Given the description of an element on the screen output the (x, y) to click on. 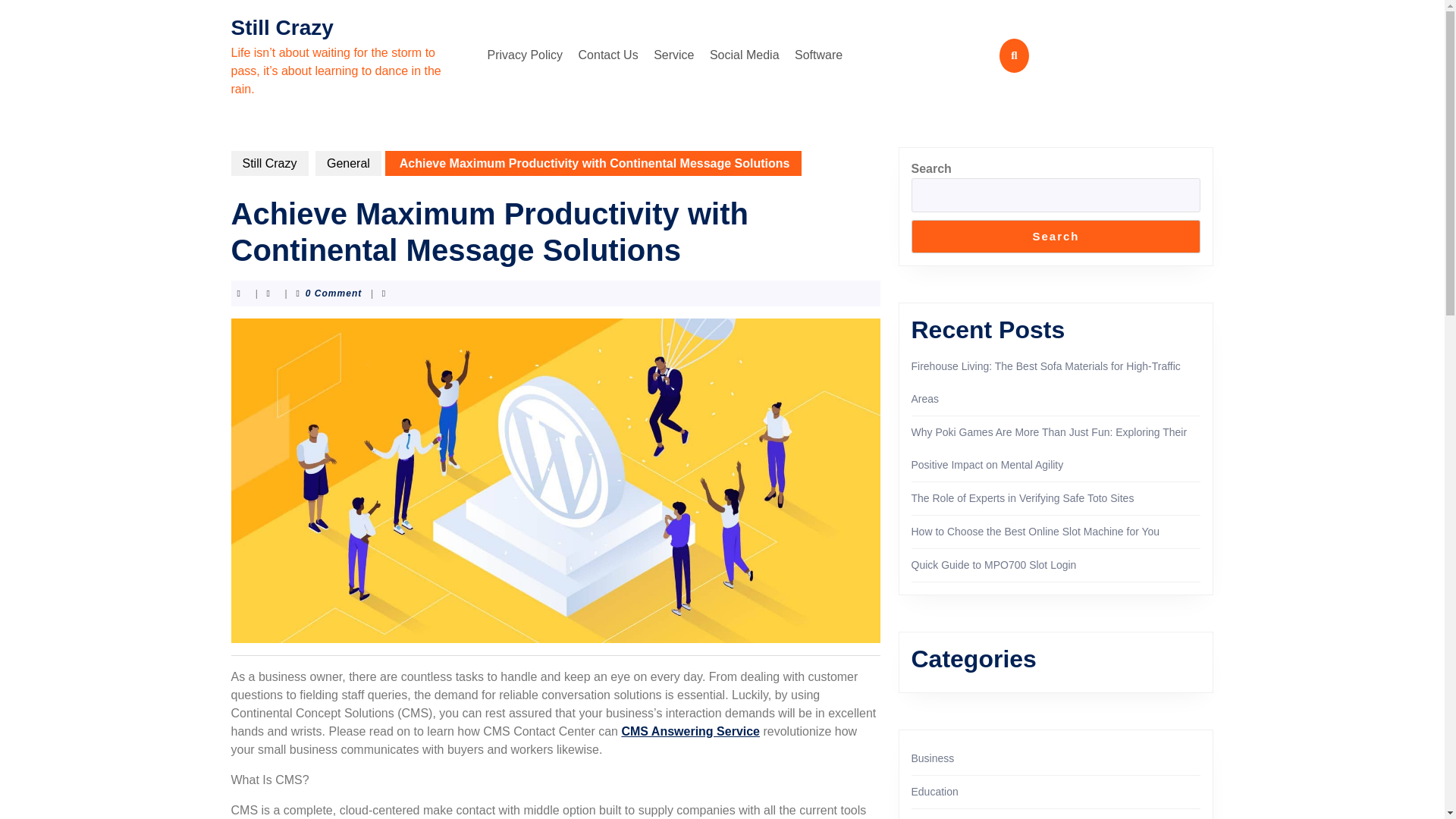
Social Media (744, 55)
CMS Answering Service (690, 730)
Still Crazy (281, 27)
Business (933, 758)
Education (934, 791)
Search (1056, 236)
General (348, 163)
Quick Guide to MPO700 Slot Login (994, 564)
How to Choose the Best Online Slot Machine for You (1035, 531)
Contact Us (608, 55)
The Role of Experts in Verifying Safe Toto Sites (1022, 498)
Software (818, 55)
Privacy Policy (524, 55)
